Given the description of an element on the screen output the (x, y) to click on. 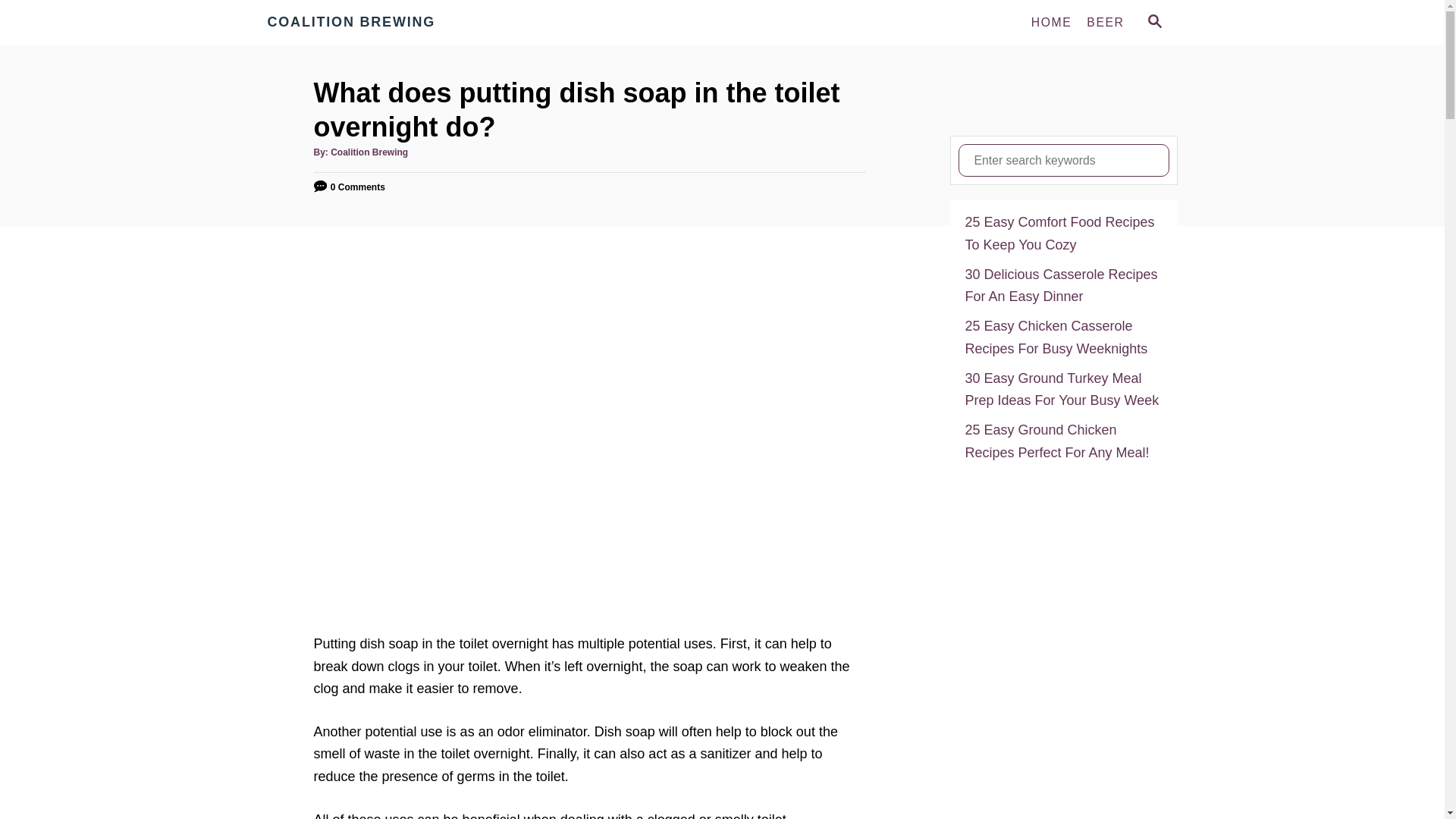
25 Easy Chicken Casserole Recipes For Busy Weeknights (1062, 337)
HOME (1051, 22)
SEARCH (1153, 22)
Search for: (1063, 160)
BEER (1104, 22)
Search (22, 22)
25 Easy Ground Chicken Recipes Perfect For Any Meal! (1062, 441)
Coalition Brewing (368, 152)
COALITION BREWING (403, 22)
30 Easy Ground Turkey Meal Prep Ideas For Your Busy Week (1062, 389)
30 Delicious Casserole Recipes For An Easy Dinner (1062, 286)
25 Easy Comfort Food Recipes To Keep You Cozy (1062, 234)
Coalition Brewing (403, 22)
